Given the description of an element on the screen output the (x, y) to click on. 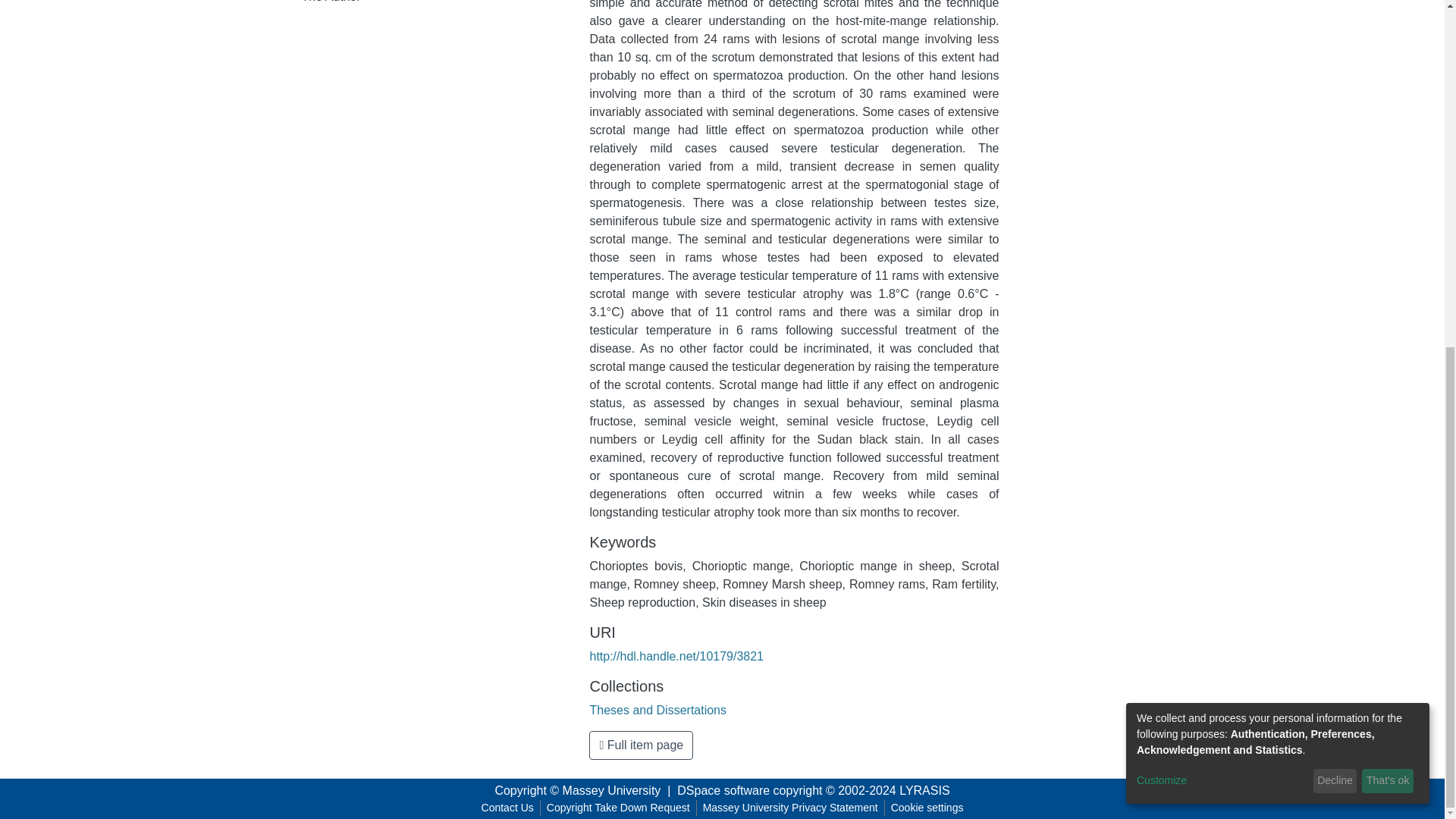
DSpace software (723, 789)
Theses and Dissertations (657, 709)
Contact Us (508, 807)
Full item page (641, 745)
LYRASIS (924, 789)
